Given the description of an element on the screen output the (x, y) to click on. 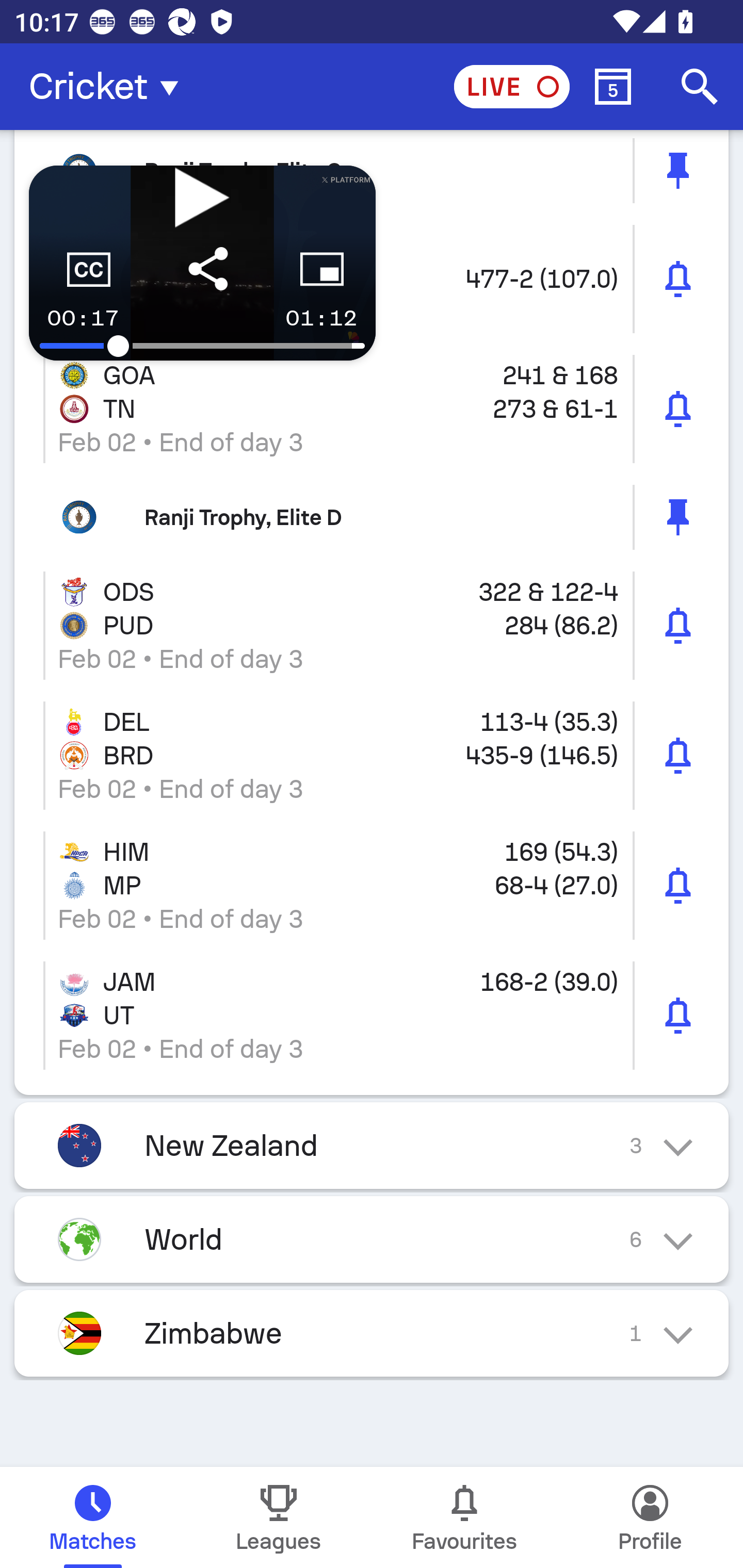
Cricket (109, 86)
Calendar (612, 86)
Search (699, 86)
GOA 241 & 168 TN 273 & 61-1 Feb 02 • End of day 3 (371, 408)
Ranji Trophy, Elite D (371, 517)
JAM 168-2 (39.0) UT Feb 02 • End of day 3 (371, 1015)
New Zealand 3 (371, 1145)
World 6 (371, 1239)
Zimbabwe 1 (371, 1333)
Leagues (278, 1517)
Favourites (464, 1517)
Profile (650, 1517)
